Given the description of an element on the screen output the (x, y) to click on. 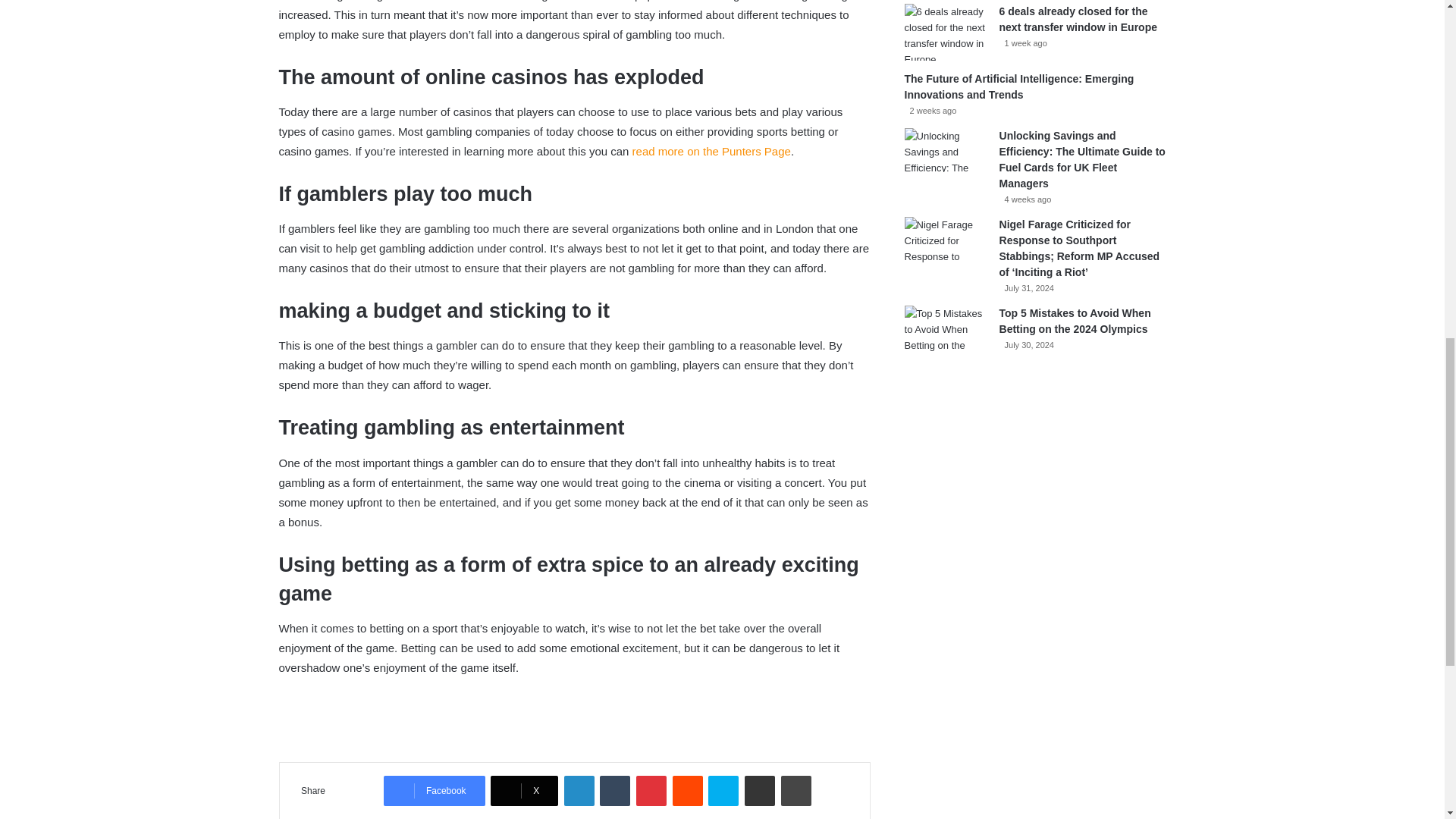
Tumblr (614, 790)
Pinterest (651, 790)
Facebook (434, 790)
LinkedIn (579, 790)
Reddit (687, 790)
LinkedIn (579, 790)
Skype (722, 790)
X (523, 790)
Tumblr (614, 790)
Pinterest (651, 790)
